Given the description of an element on the screen output the (x, y) to click on. 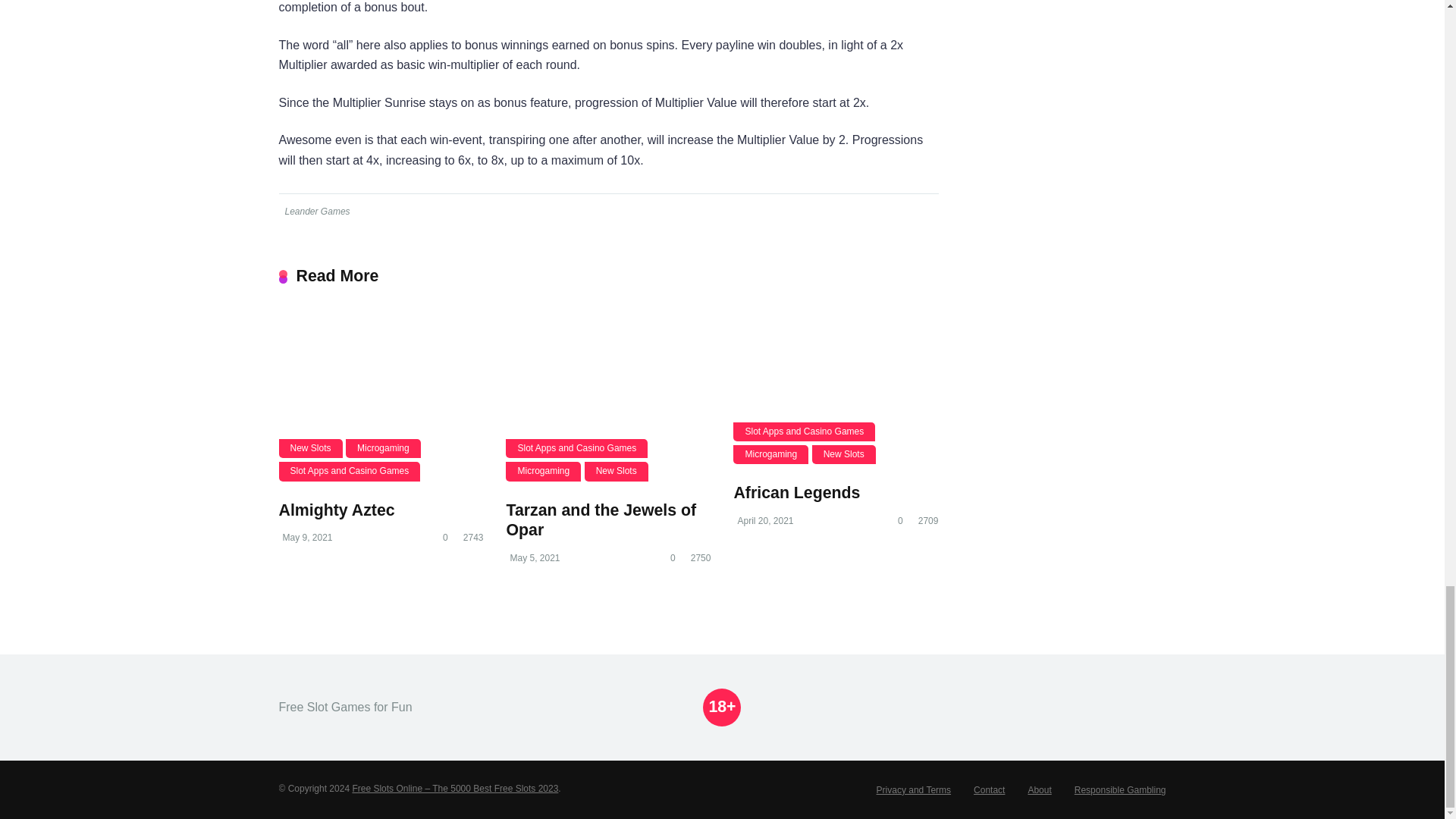
Tarzan and the Jewels of Opar (600, 520)
New Slots (616, 470)
Slot Apps and Casino Games (804, 431)
African Legends (796, 493)
Microgaming (383, 447)
African Legends (835, 388)
Slot Apps and Casino Games (576, 447)
New Slots (310, 447)
New Slots (844, 454)
Microgaming (770, 454)
